Given the description of an element on the screen output the (x, y) to click on. 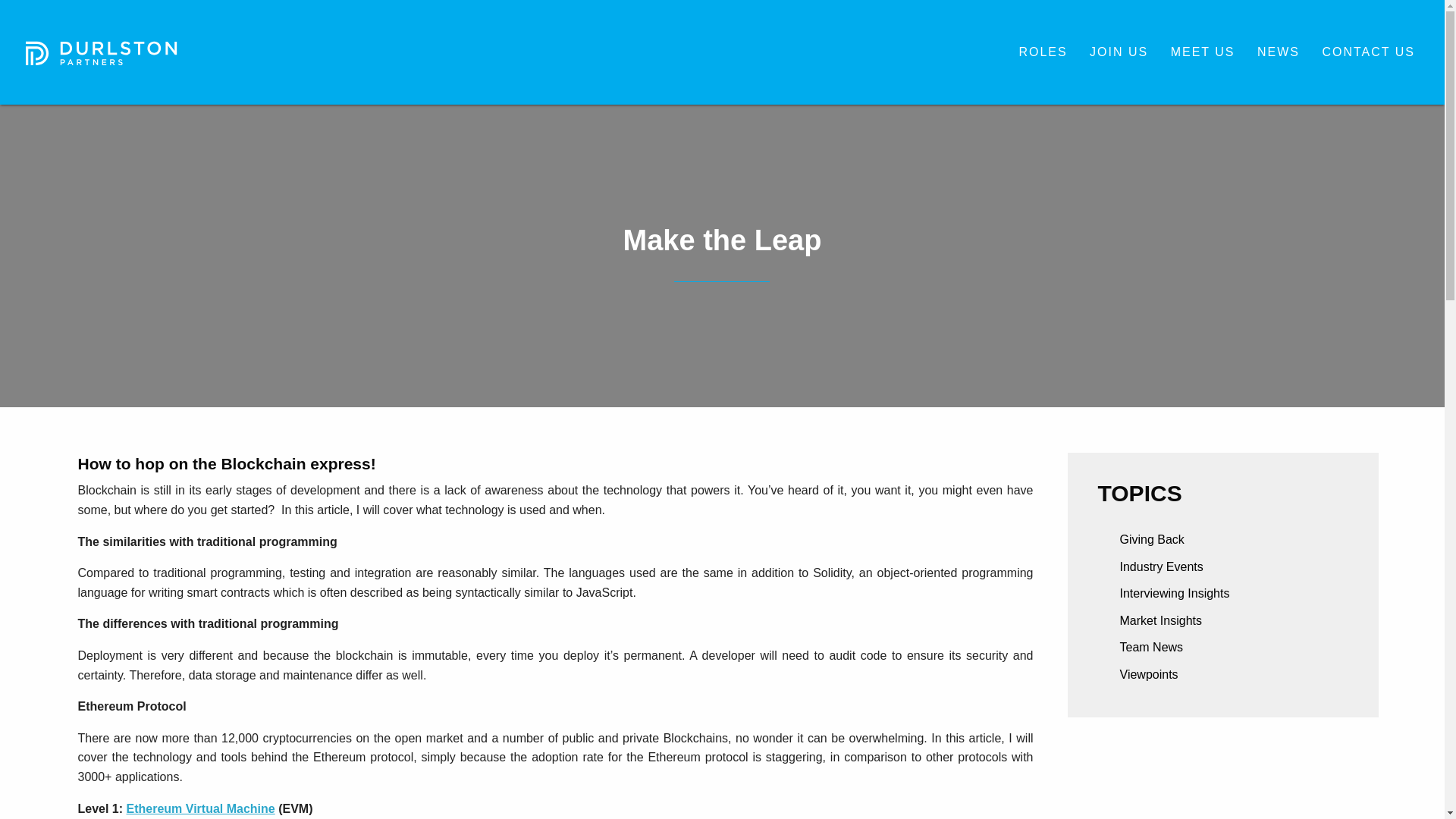
CONTACT US (1367, 52)
JOIN US (1118, 52)
Market Insights (1149, 620)
ROLES (1042, 52)
Industry Events (1150, 567)
NEWS (1278, 52)
Ethereum Virtual Machine (200, 808)
Giving Back (1141, 539)
Viewpoints (1137, 674)
Team News (1140, 647)
